Given the description of an element on the screen output the (x, y) to click on. 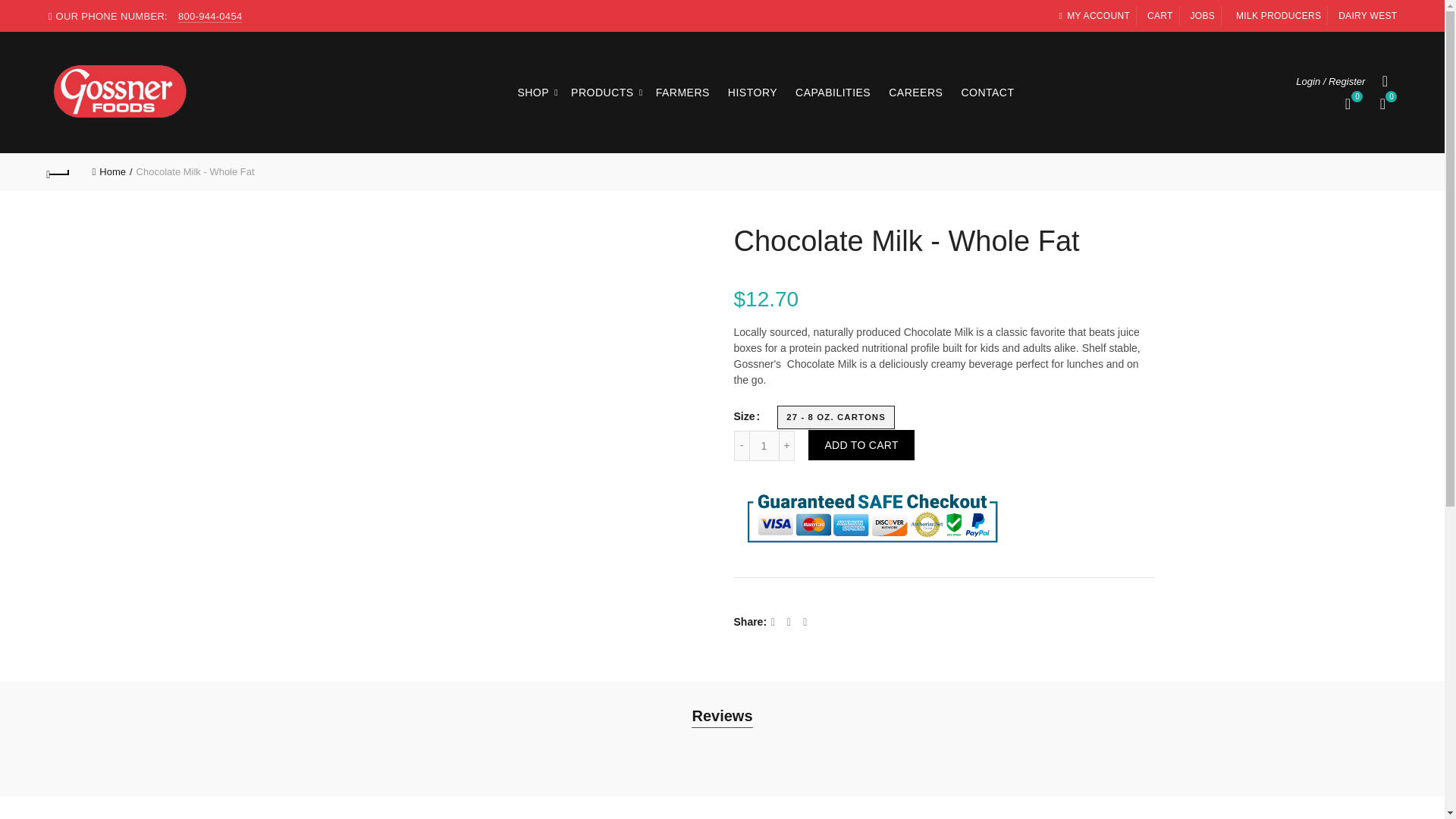
Qty (763, 445)
1 (763, 445)
